Given the description of an element on the screen output the (x, y) to click on. 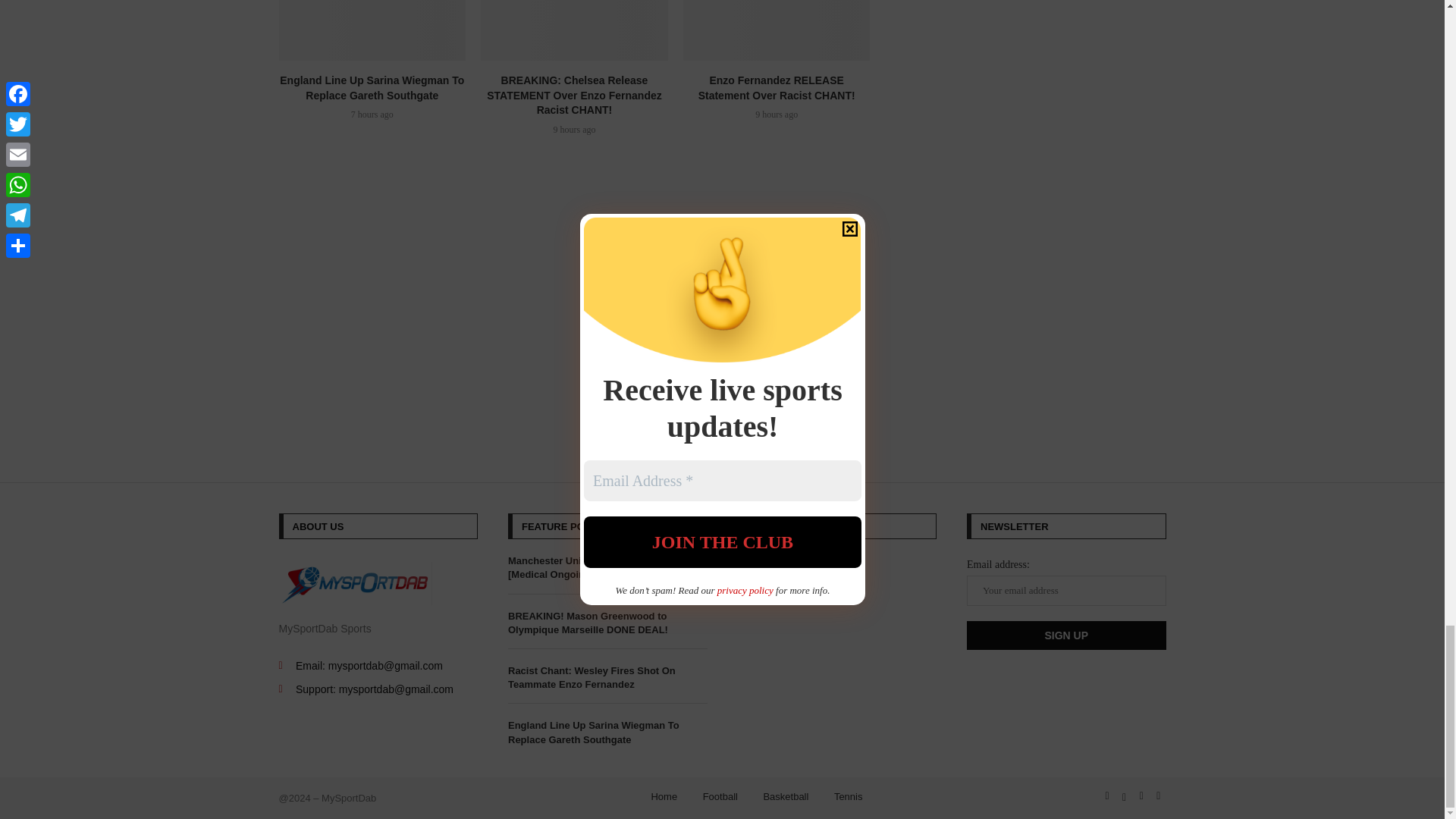
Sign up (1066, 635)
